Given the description of an element on the screen output the (x, y) to click on. 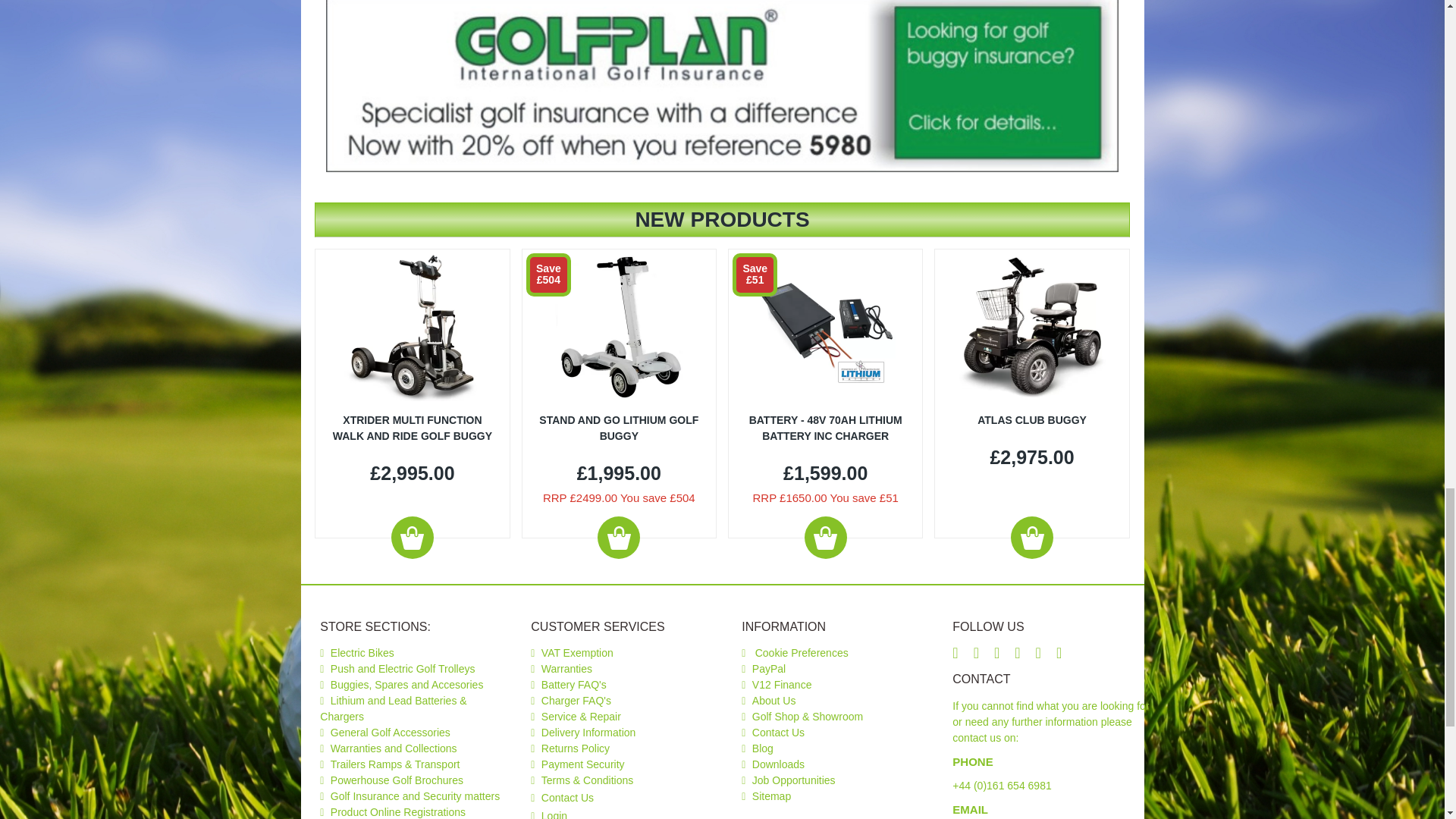
Battery - 48v 70Ah Lithium battery Inc Charger (825, 325)
Atlas Club Buggy (1032, 325)
Stand and Go Lithium Golf Buggy (618, 325)
XTRIDER Multi function walk and ride Golf buggy (411, 325)
